Given the description of an element on the screen output the (x, y) to click on. 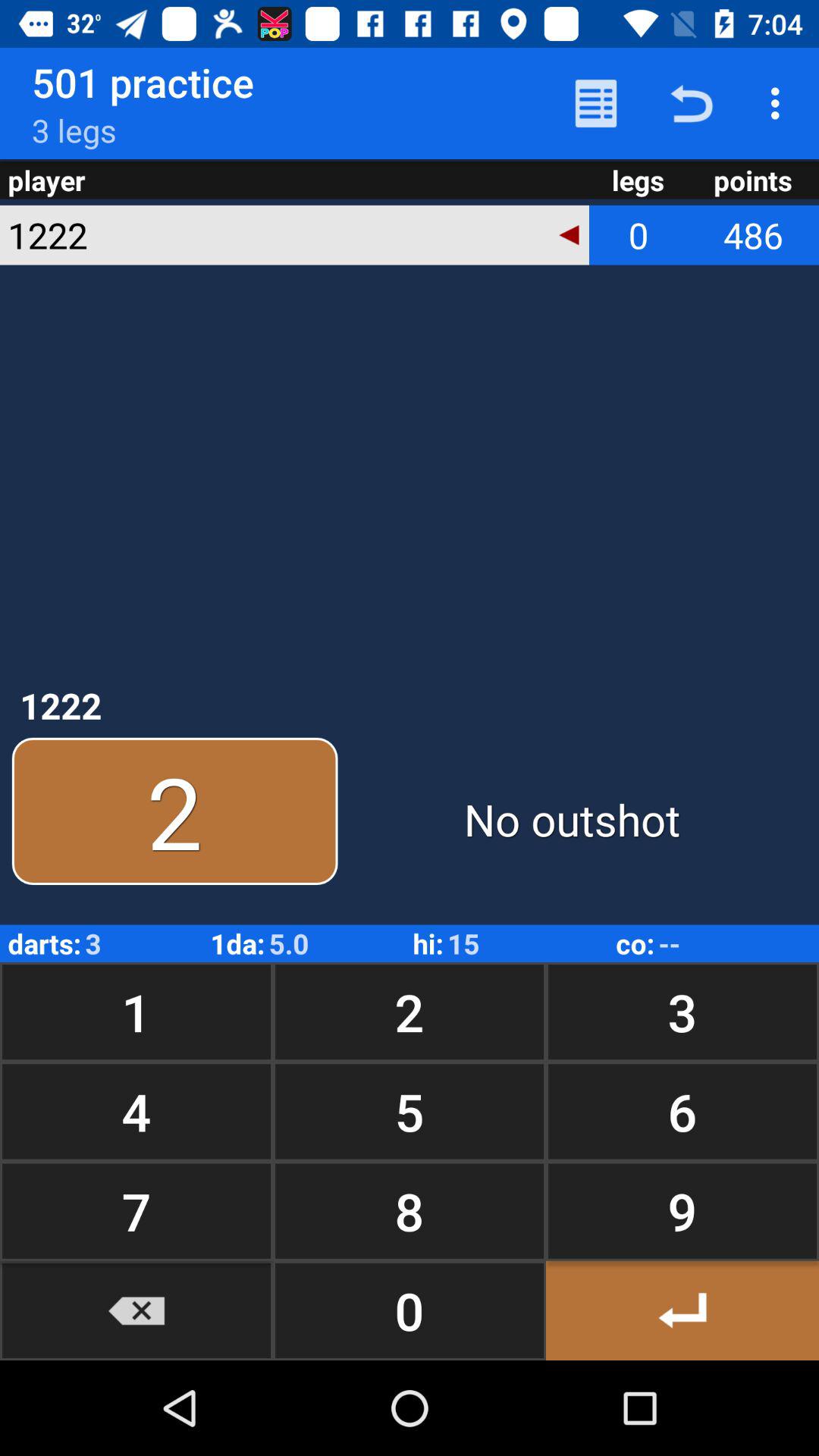
press the button next to 8 (136, 1310)
